Given the description of an element on the screen output the (x, y) to click on. 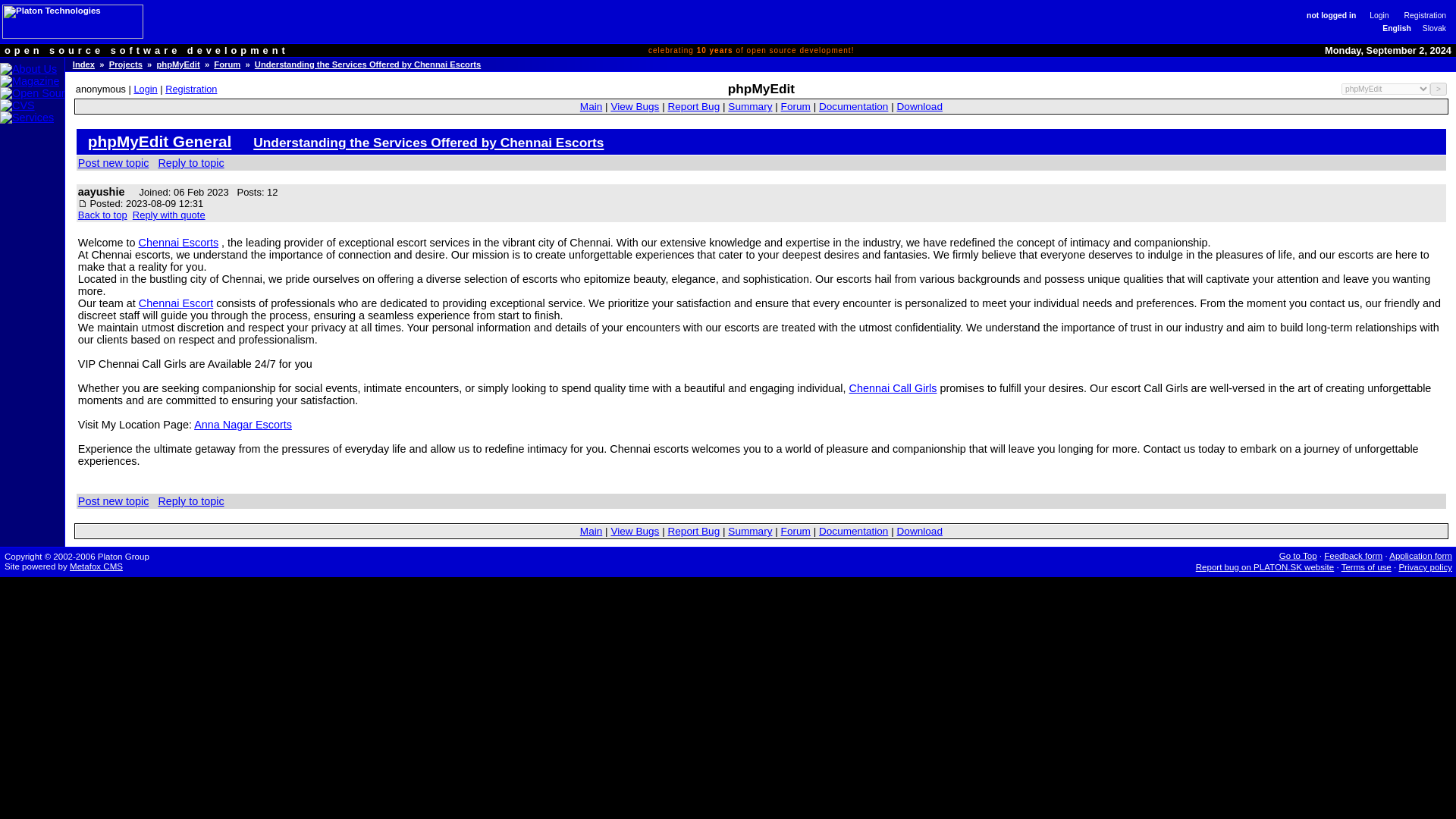
Chennai Escorts (178, 242)
Chennai Call Girls (892, 387)
Anna Nagar Escorts (242, 424)
Slovak (1428, 28)
Platon Technologies (72, 21)
Download (919, 106)
Registration (1420, 14)
Summary (749, 106)
View Bugs (634, 106)
Documentation (853, 106)
